Given the description of an element on the screen output the (x, y) to click on. 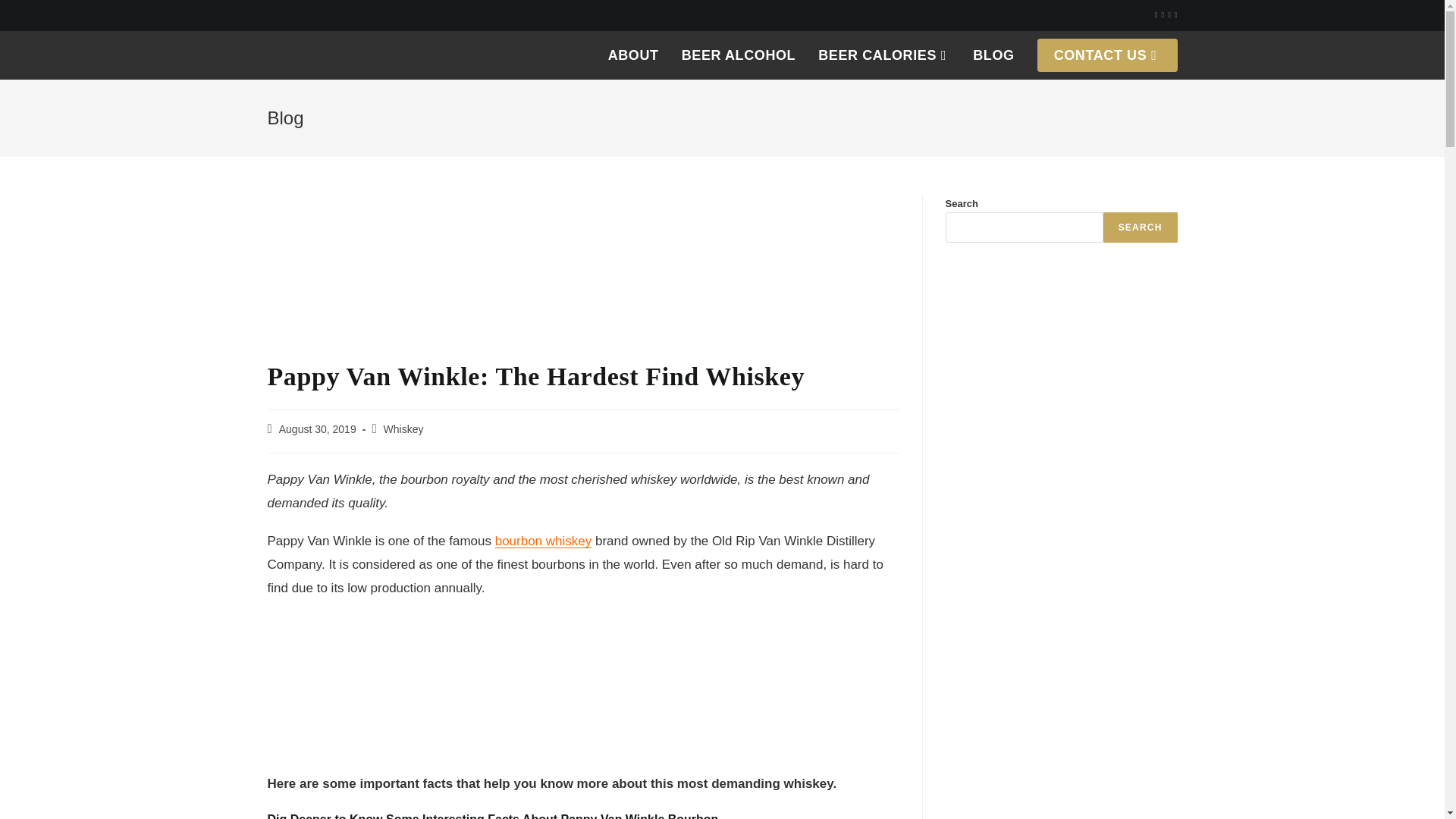
Advertisement (582, 276)
bourbon whiskey (543, 540)
SEARCH (1140, 227)
Whiskey (403, 428)
ABOUT (632, 55)
Advertisement (582, 690)
CONTACT US (1107, 55)
BEER CALORIES (883, 55)
BEER ALCOHOL (738, 55)
BLOG (992, 55)
